Given the description of an element on the screen output the (x, y) to click on. 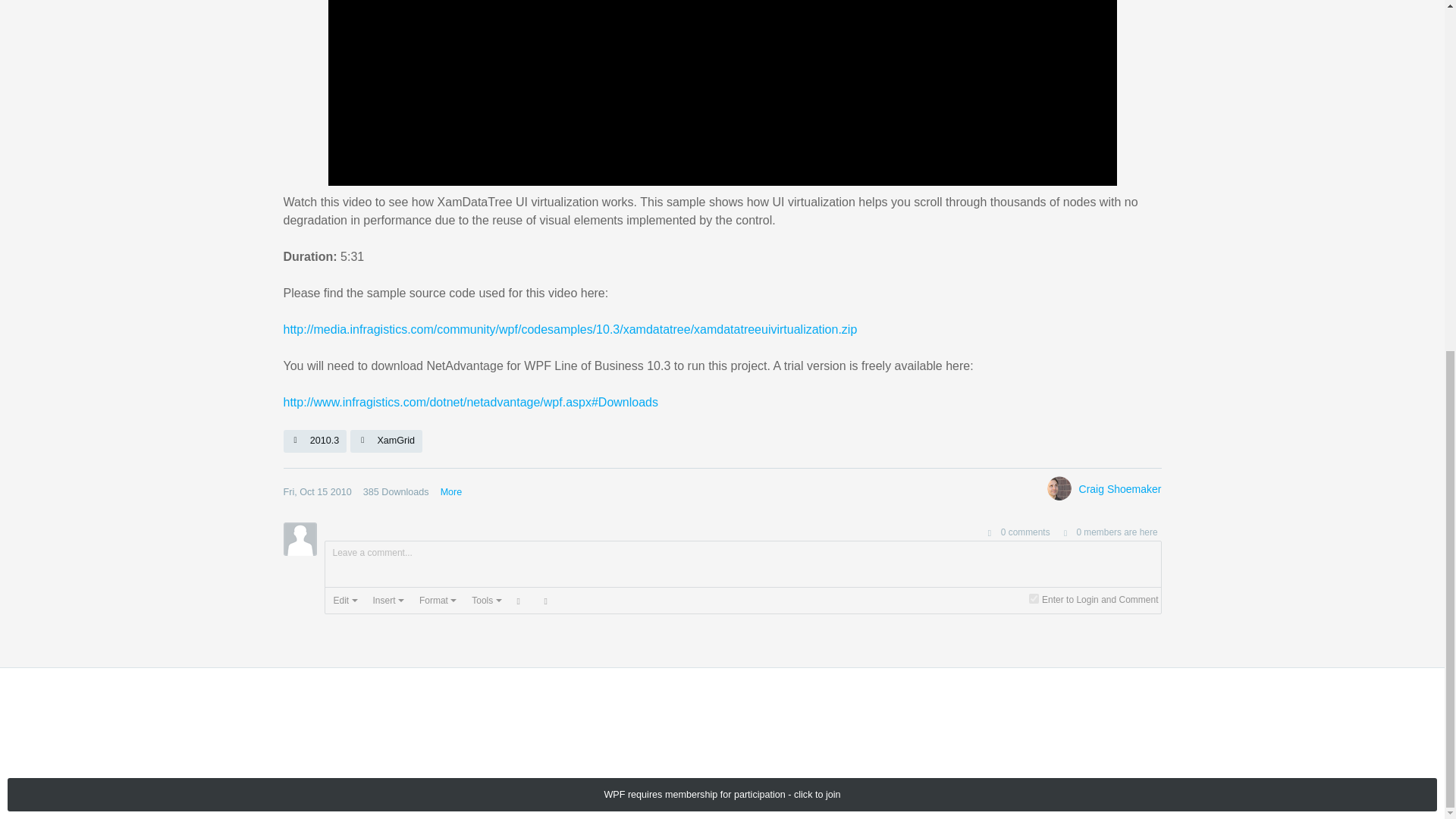
on (1034, 598)
